Given the description of an element on the screen output the (x, y) to click on. 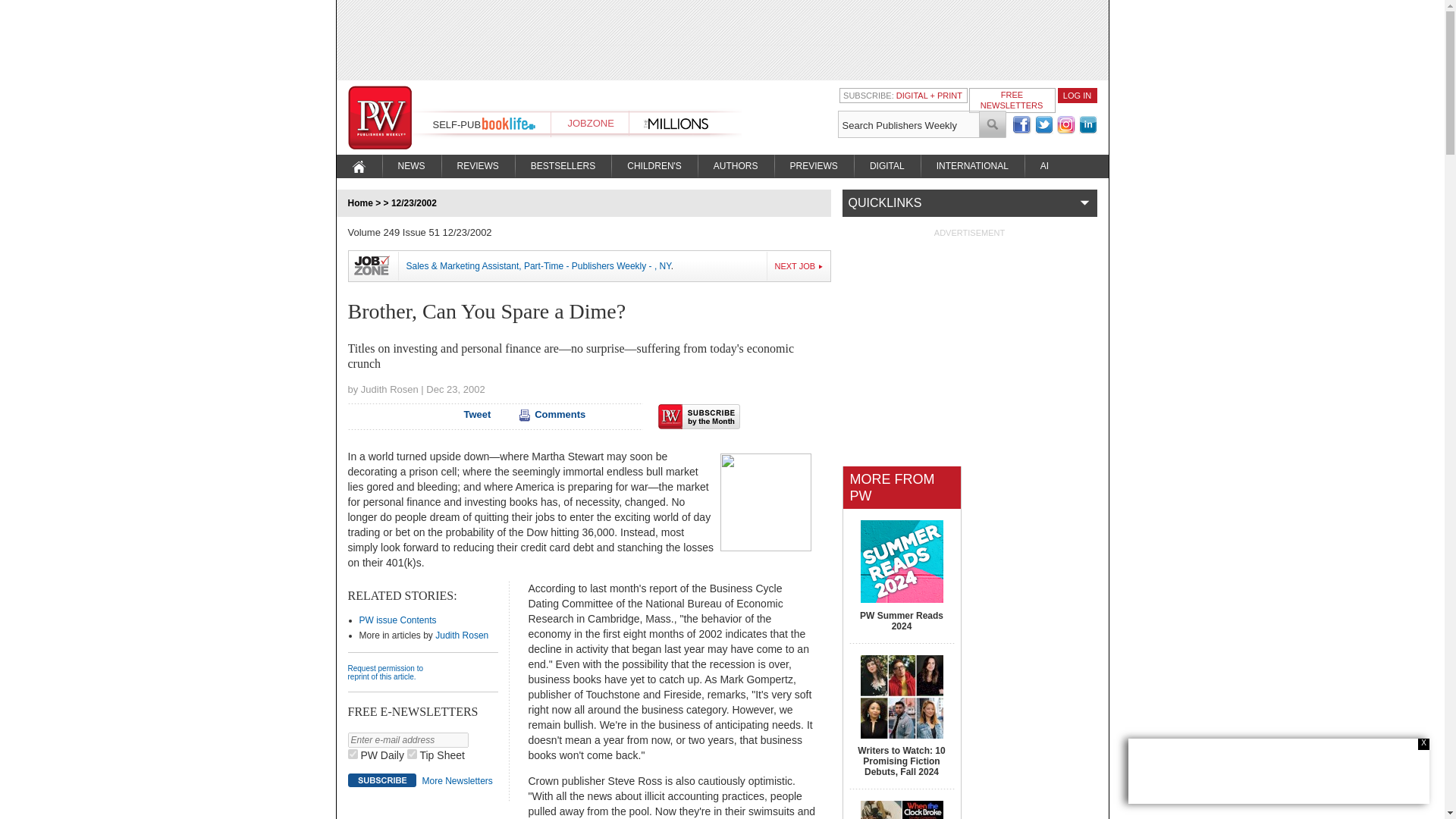
Search Publishers Weekly (907, 124)
NEXT JOB (799, 266)
FREE NEWSLETTERS (1011, 99)
submit (992, 124)
LOG IN (1076, 94)
1 (351, 754)
subscribe (380, 780)
SELF-PUB (456, 124)
JOBZONE (589, 122)
Home (359, 203)
